Given the description of an element on the screen output the (x, y) to click on. 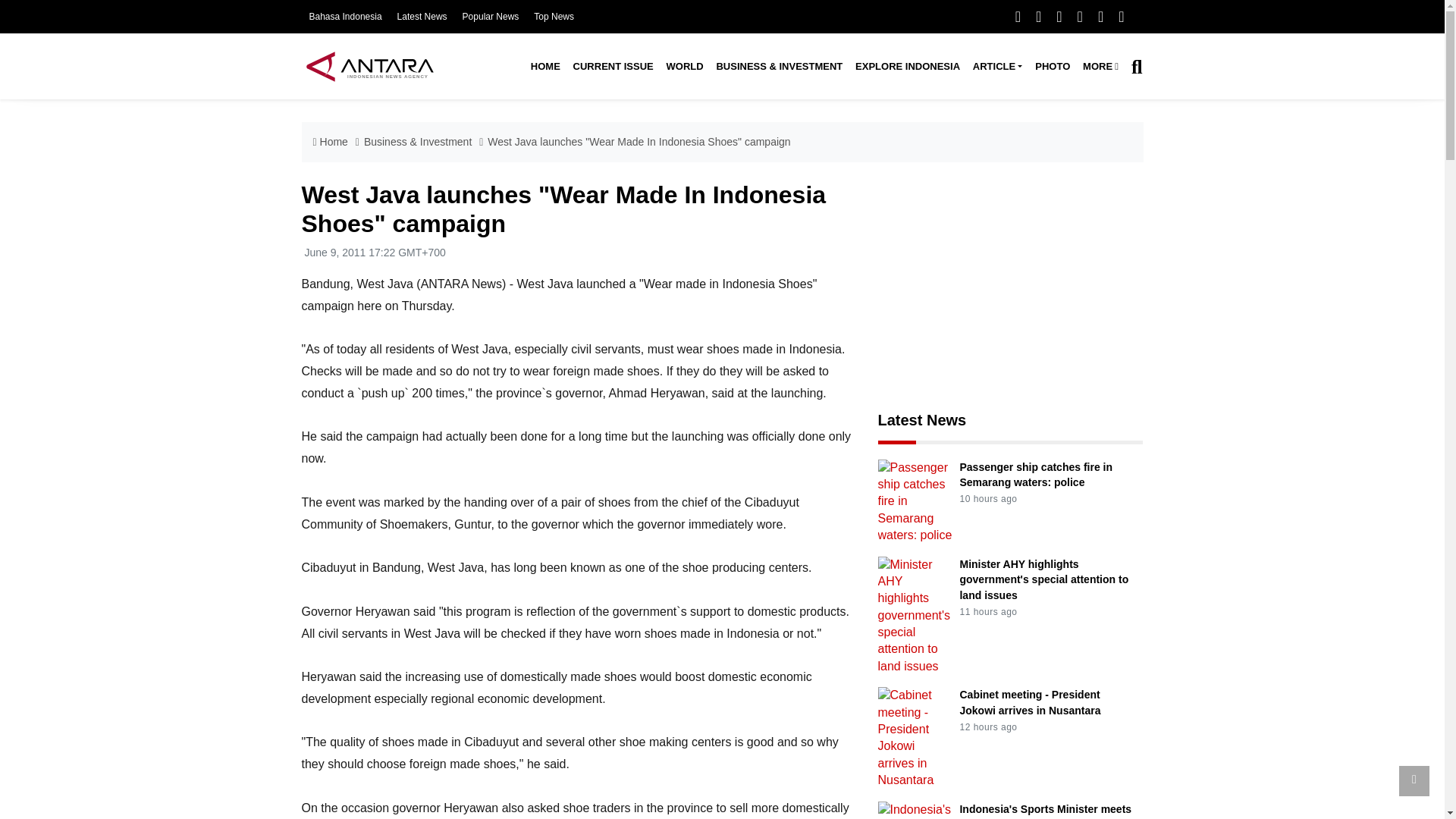
Popular News (491, 16)
EXPLORE INDONESIA (907, 66)
Current Issue (612, 66)
Popular News (491, 16)
Top News (553, 16)
Bahasa Indonesia (344, 16)
Latest News (421, 16)
Article (996, 66)
Explore Indonesia (907, 66)
Top News (553, 16)
